Given the description of an element on the screen output the (x, y) to click on. 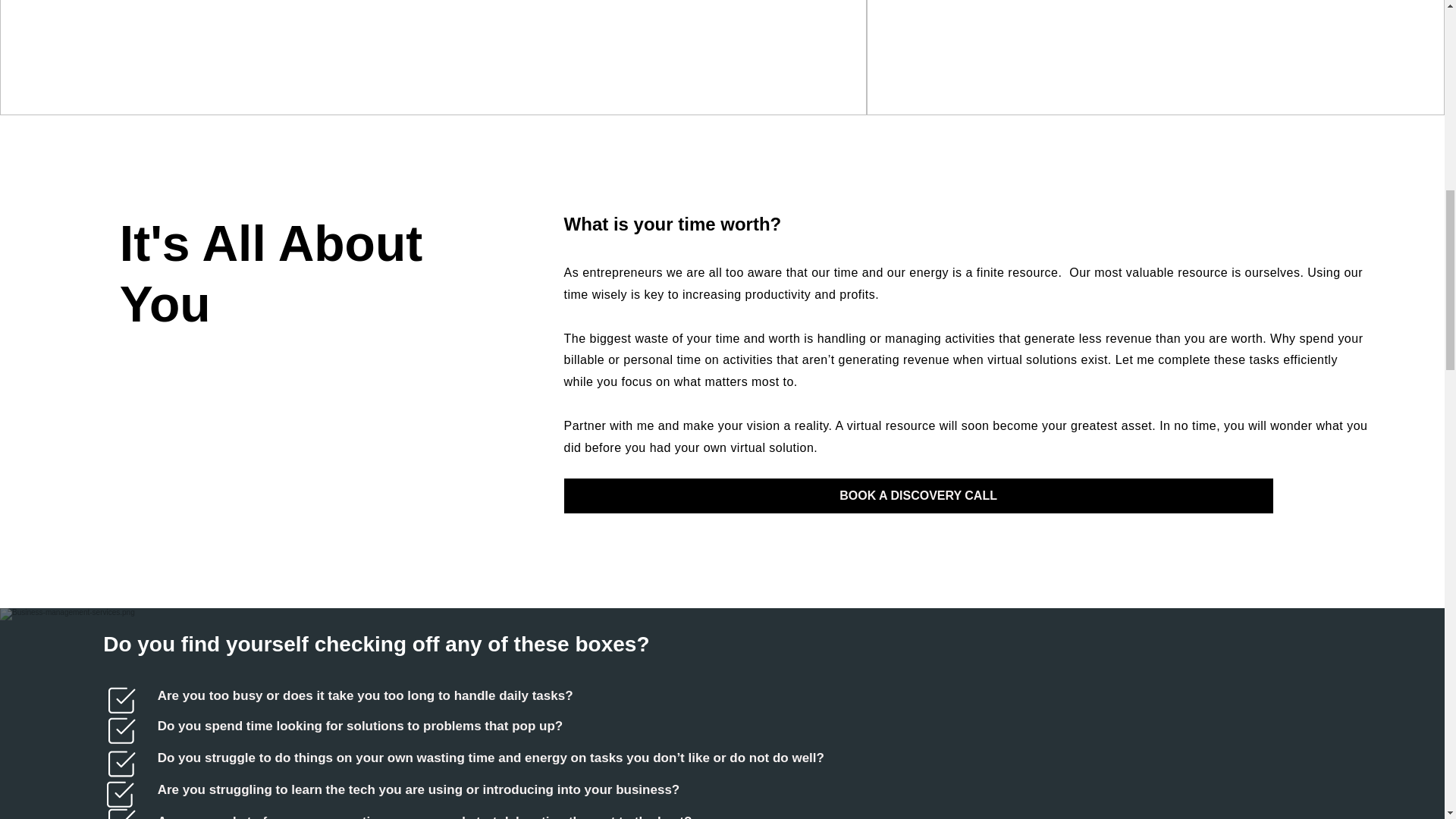
BOOK A DISCOVERY CALL (918, 495)
